Given the description of an element on the screen output the (x, y) to click on. 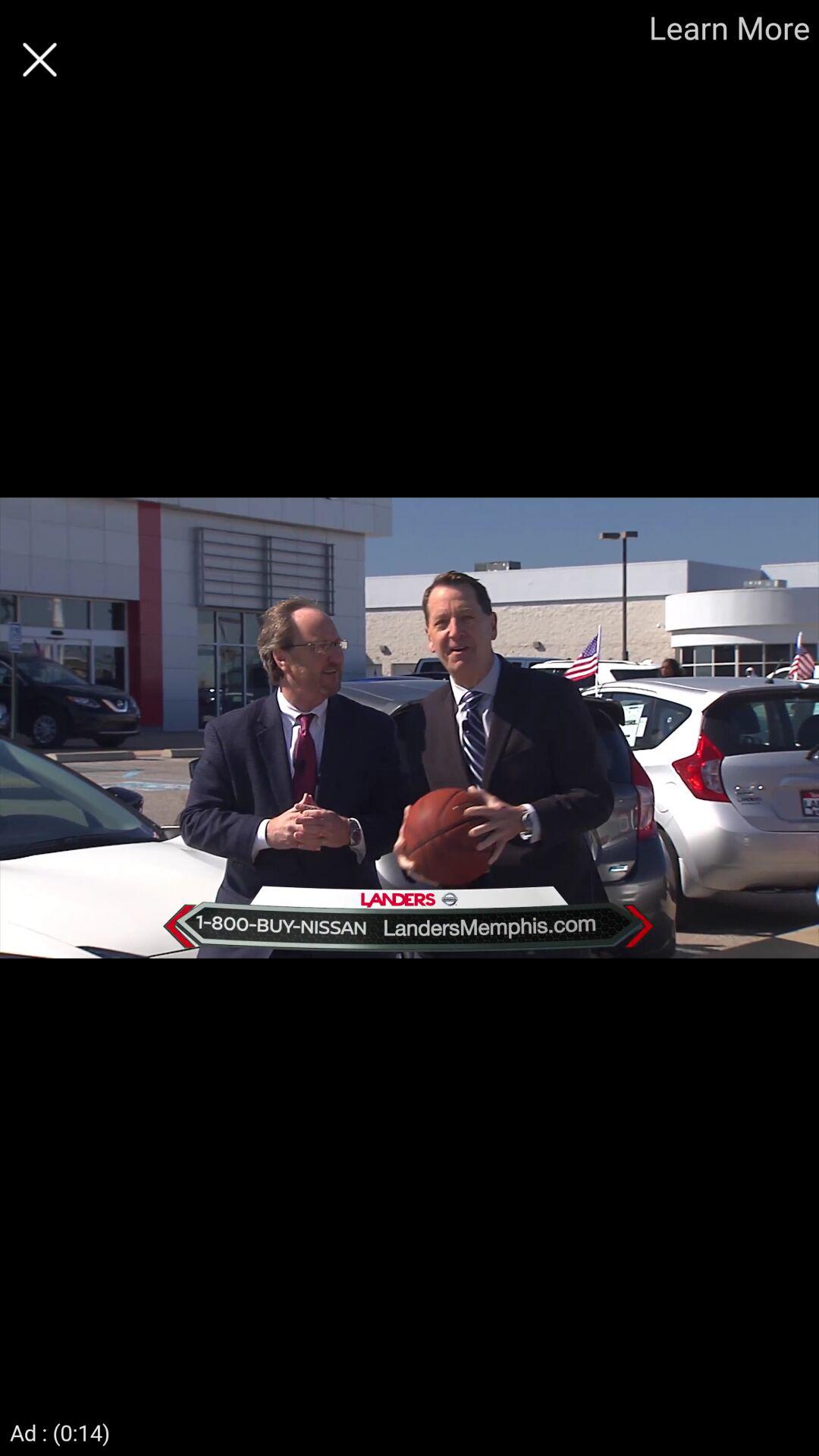
exit out (39, 59)
